Given the description of an element on the screen output the (x, y) to click on. 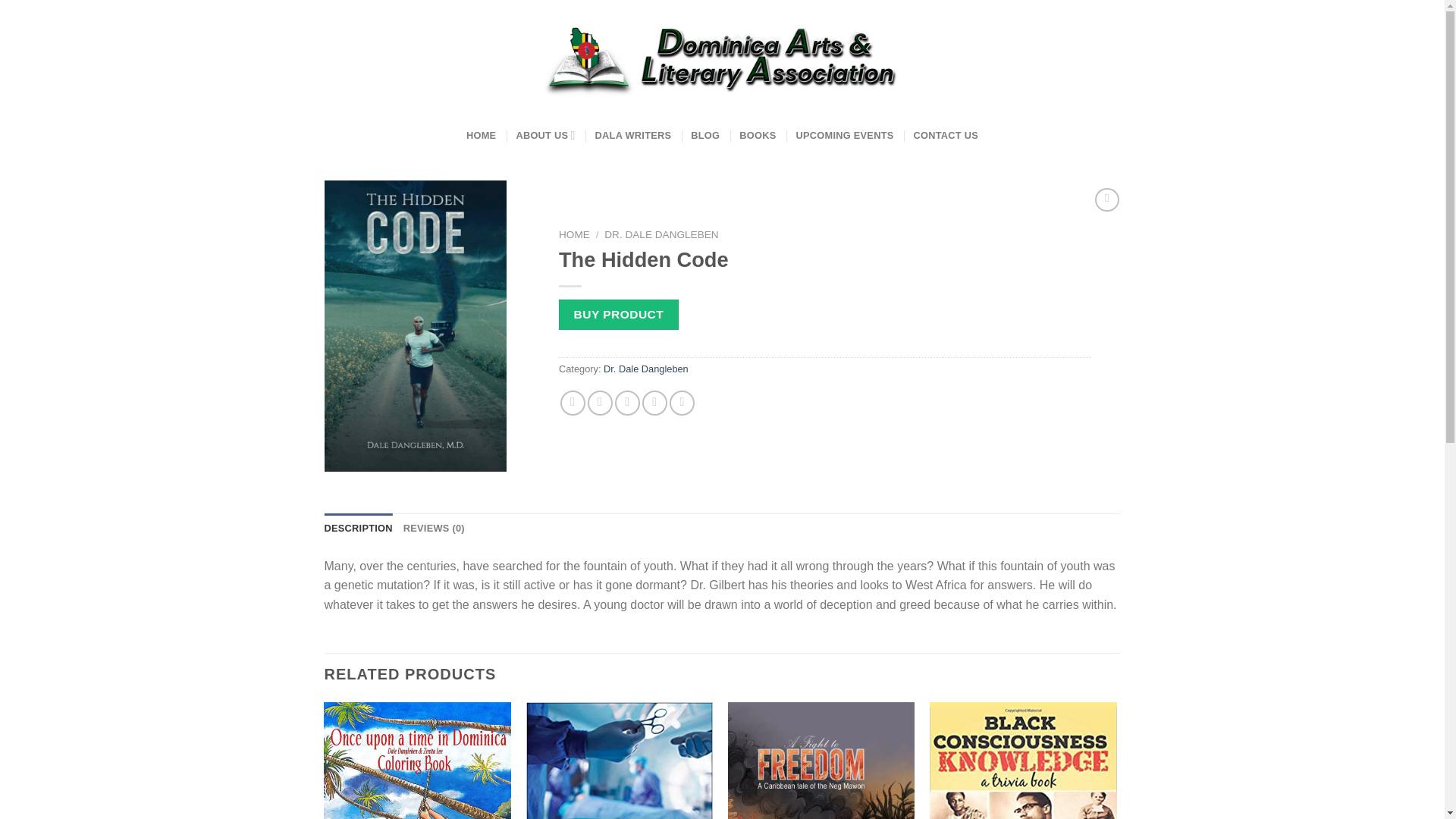
BOOKS (757, 135)
HOME (480, 135)
CONTACT US (945, 135)
DR. DALE DANGLEBEN (660, 234)
DALA WRITERS (633, 135)
BUY PRODUCT (617, 315)
DESCRIPTION (358, 528)
HOME (573, 234)
ABOUT US (545, 134)
